Given the description of an element on the screen output the (x, y) to click on. 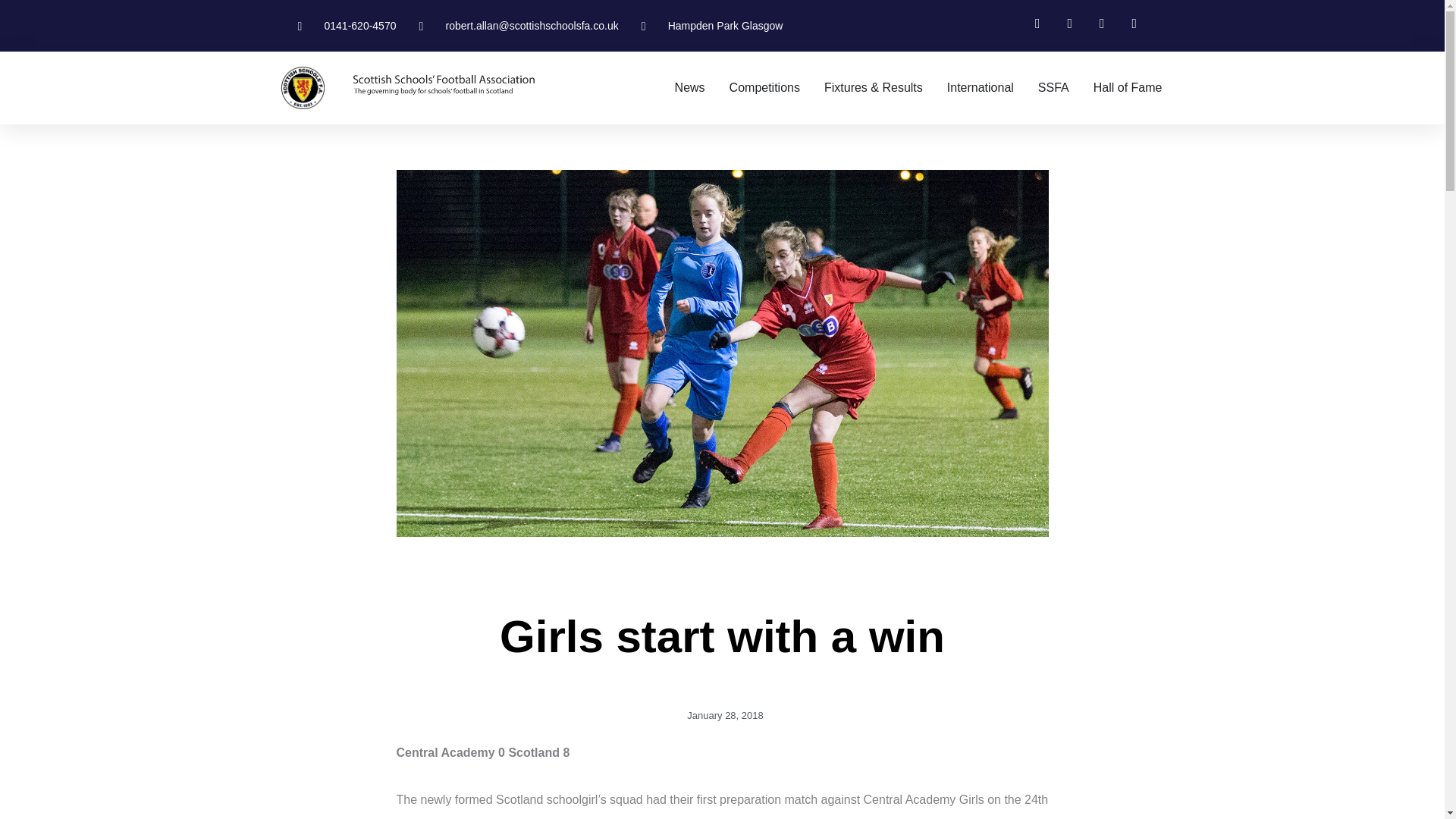
News (689, 87)
International (980, 87)
SSFA (1053, 87)
January 28, 2018 (721, 715)
Competitions (764, 87)
Hall of Fame (1127, 87)
